Given the description of an element on the screen output the (x, y) to click on. 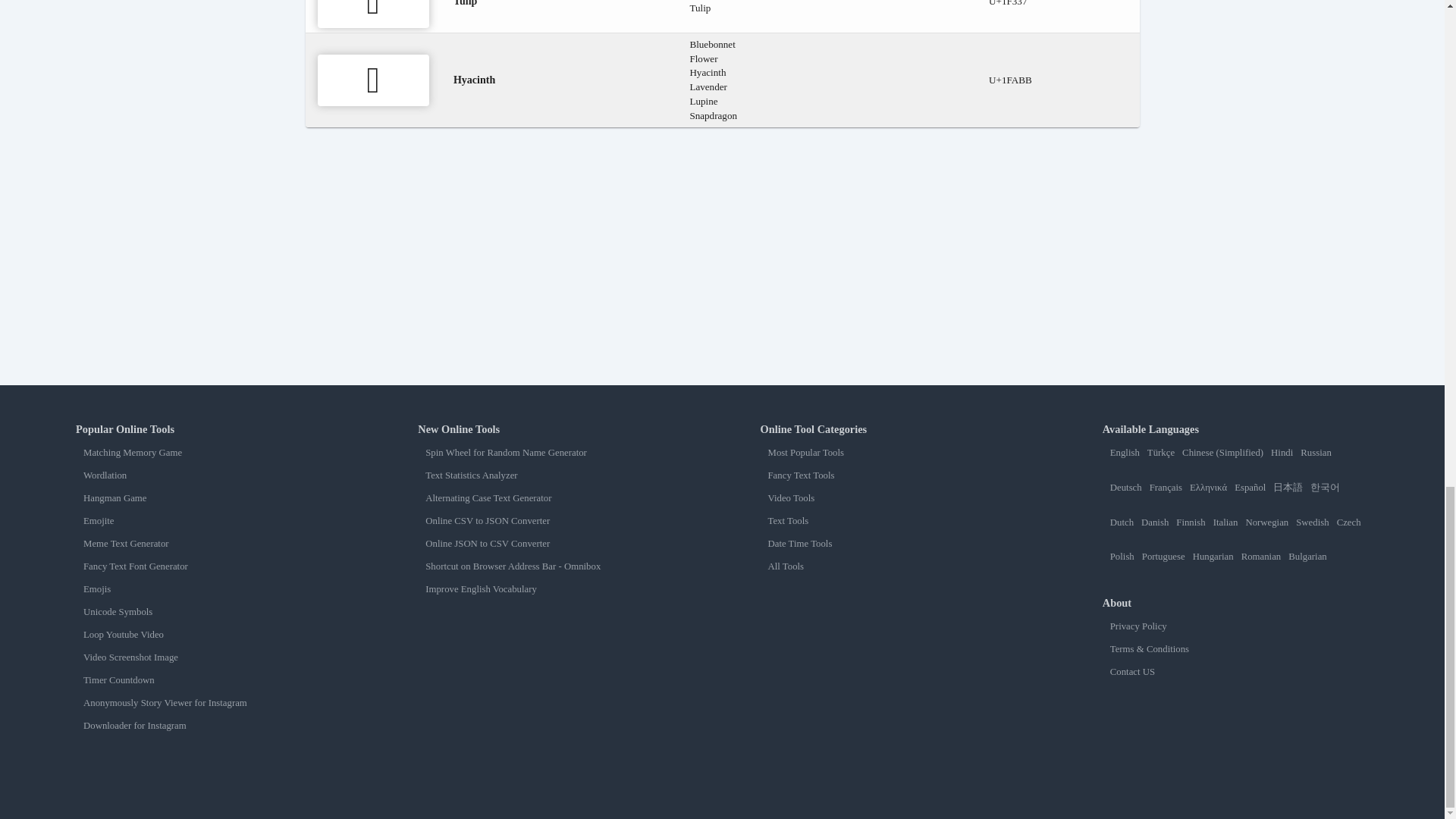
Timer Countdown (212, 680)
Hangman Game (212, 498)
Wordlation (212, 475)
Fancy Text Font Generator (212, 566)
Loop Youtube Video (212, 634)
Unicode Symbols (212, 612)
Spin Wheel for Random Name Generator (554, 452)
Matching Memory Game (212, 452)
Emojis (212, 589)
Video Screenshot Image (212, 657)
Anonymously Story Viewer for Instagram (212, 703)
Online tools make date and time related jobs easier (896, 543)
Text Statistics Analyzer (554, 475)
